Given the description of an element on the screen output the (x, y) to click on. 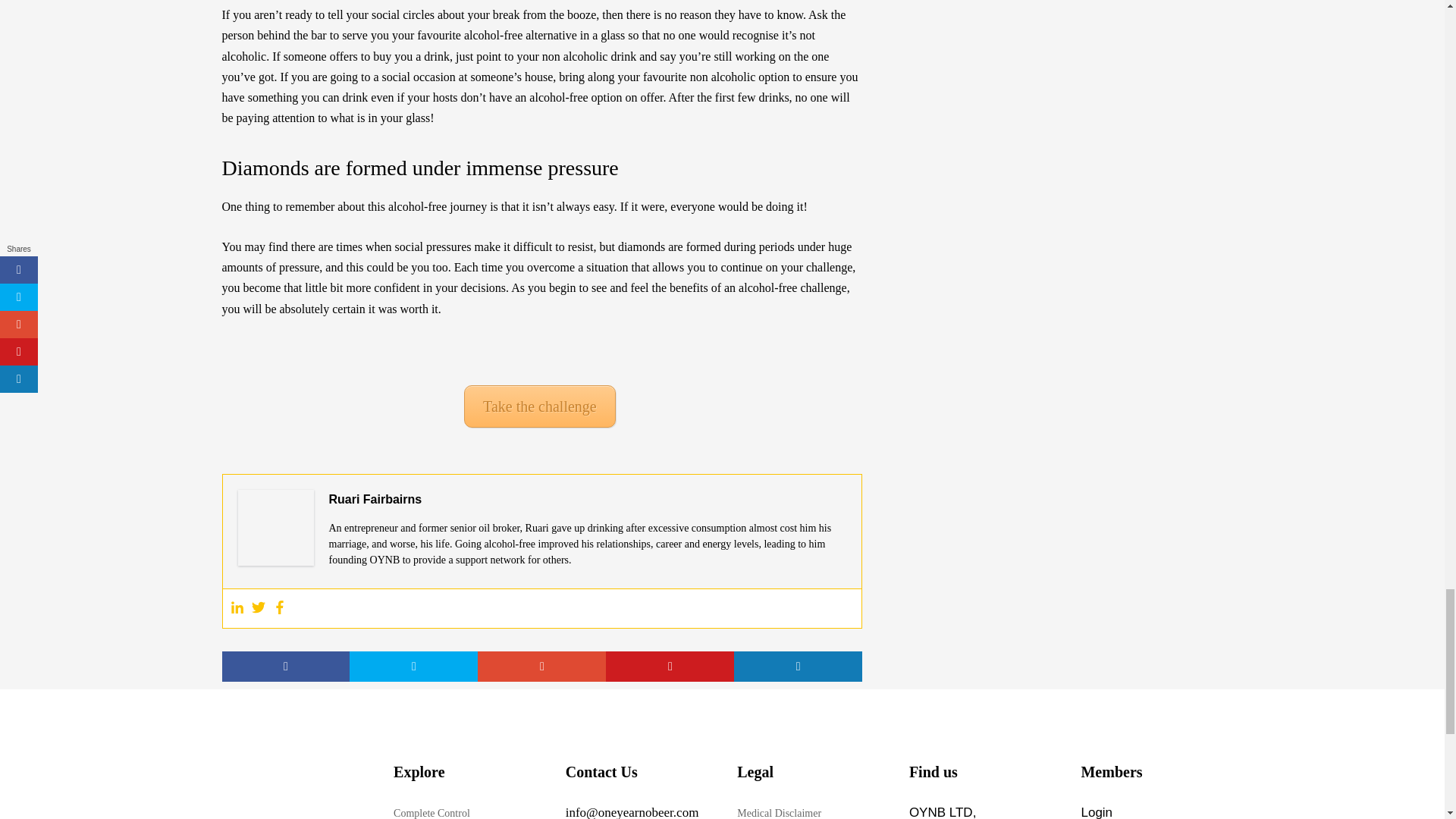
logo (291, 791)
Take the challenge (539, 405)
Ruari Fairbairns (375, 498)
